Given the description of an element on the screen output the (x, y) to click on. 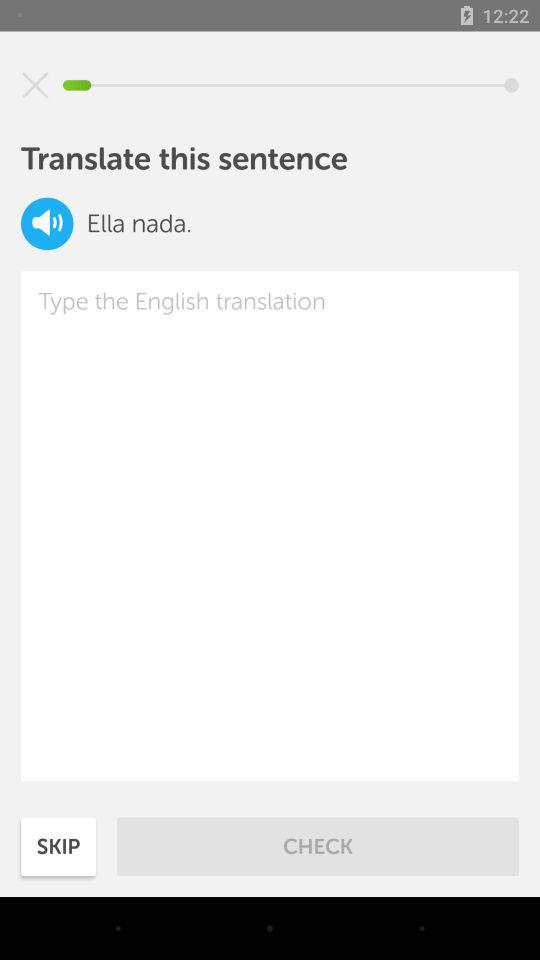
open item at the bottom left corner (58, 846)
